Given the description of an element on the screen output the (x, y) to click on. 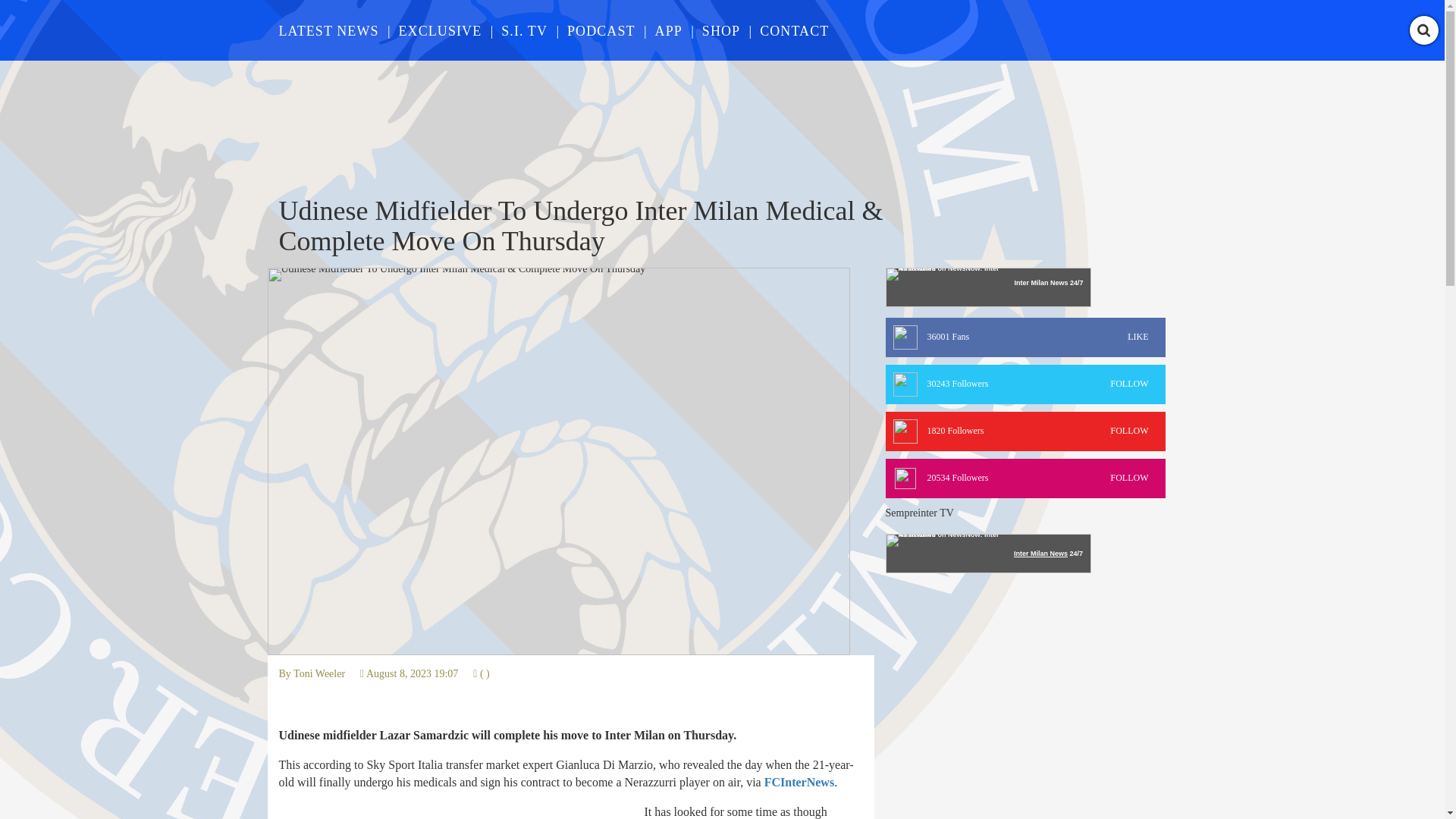
SHOP (1025, 431)
Inter Milan News (720, 30)
LATEST NEWS (1040, 553)
Toni Weeler (328, 30)
S.I. TV (319, 673)
View more articles by Toni Weeler (523, 30)
Inter Milan News (319, 673)
CONTACT (1040, 282)
